Given the description of an element on the screen output the (x, y) to click on. 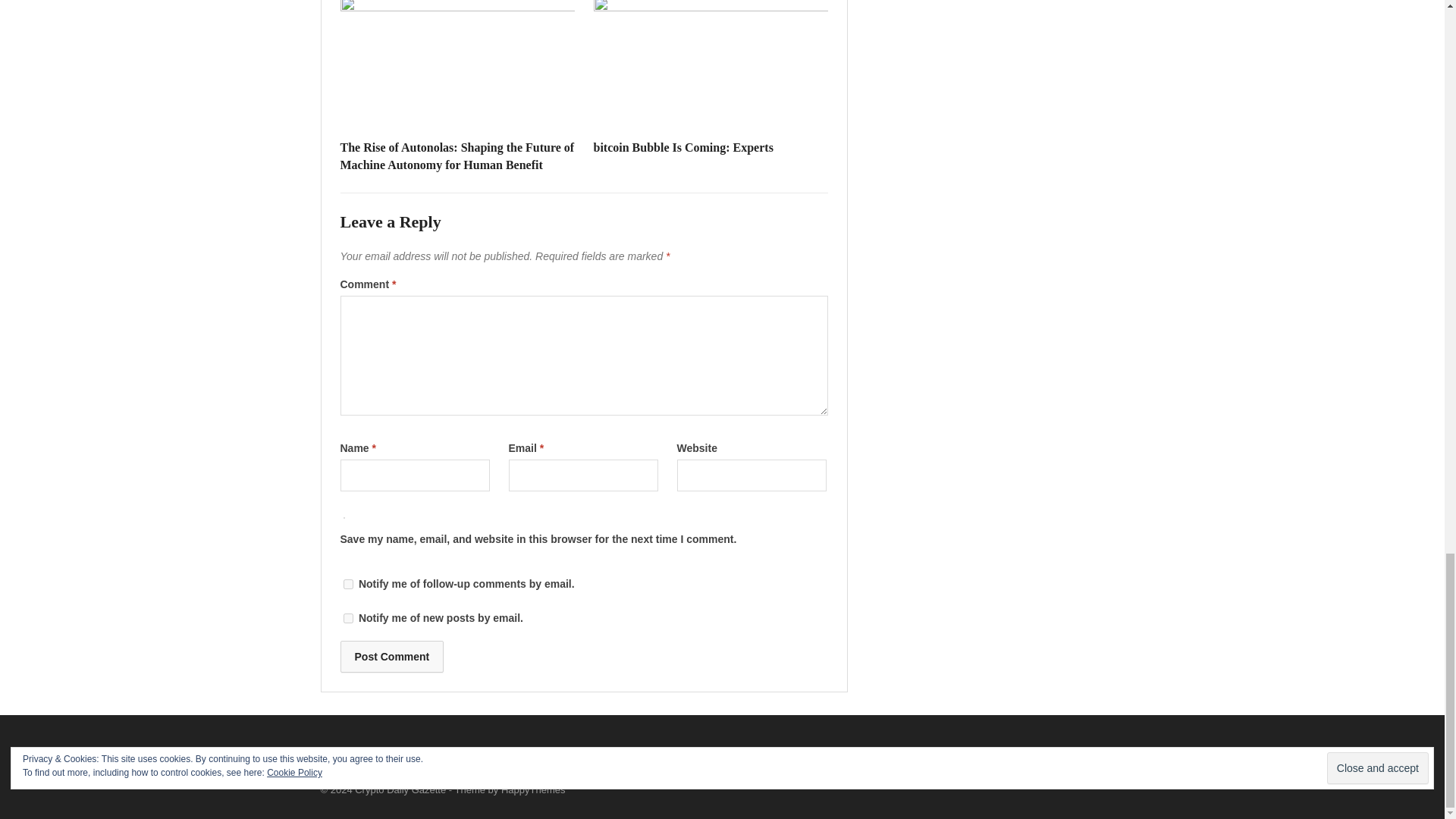
subscribe (347, 583)
Post Comment (391, 656)
subscribe (347, 618)
